Given the description of an element on the screen output the (x, y) to click on. 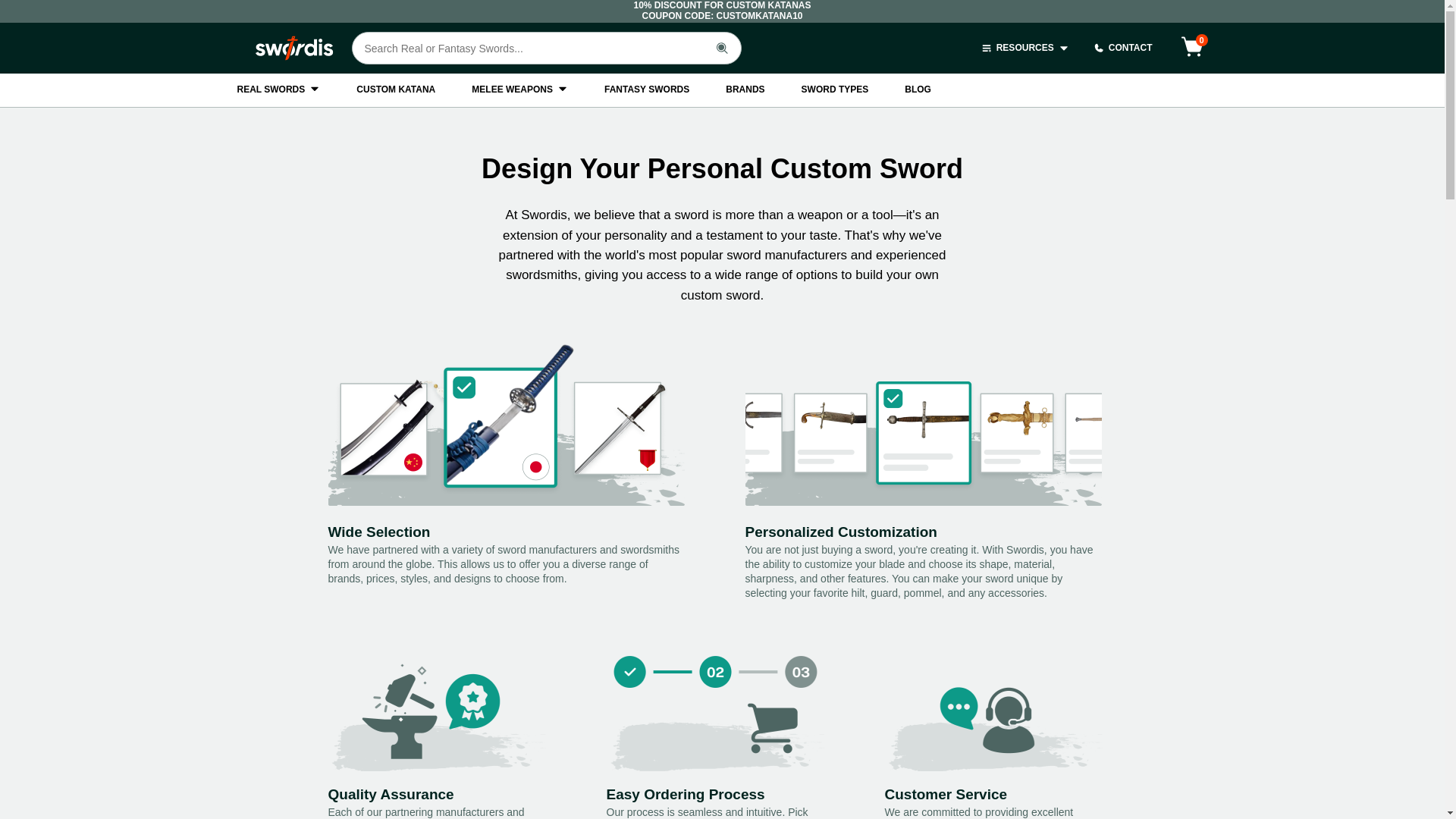
0 (1192, 48)
MELEE WEAPONS (519, 90)
REAL SWORDS (277, 90)
CONTACT (1123, 48)
BRANDS (744, 90)
SWORD TYPES (835, 90)
CUSTOM KATANA (395, 90)
FANTASY SWORDS (646, 90)
